Given the description of an element on the screen output the (x, y) to click on. 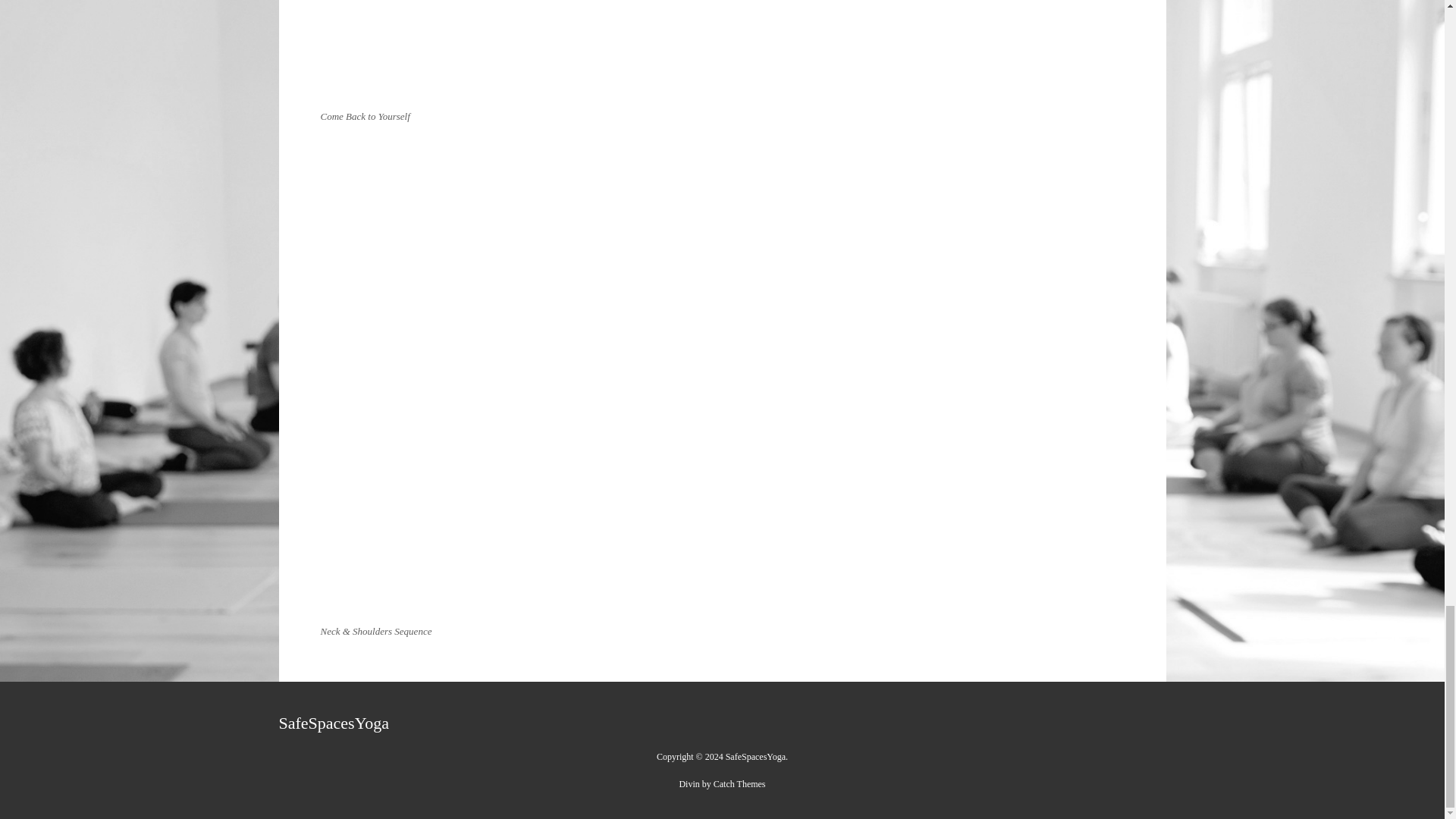
SafeSpacesYoga (755, 756)
Catch Themes (739, 783)
SafeSpacesYoga (334, 722)
Come Back to Yourself (722, 52)
